Given the description of an element on the screen output the (x, y) to click on. 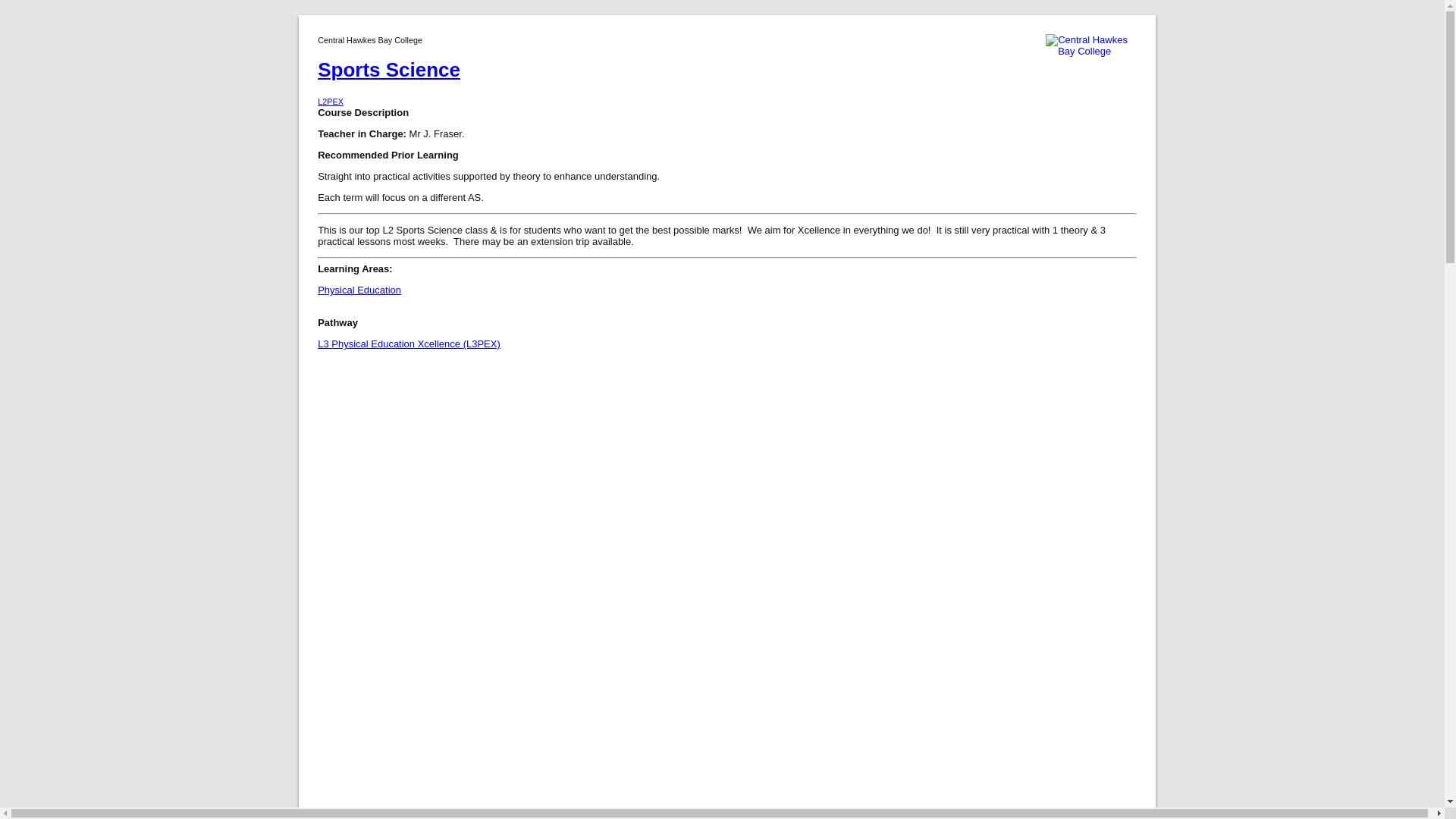
Physical Education (727, 94)
